Given the description of an element on the screen output the (x, y) to click on. 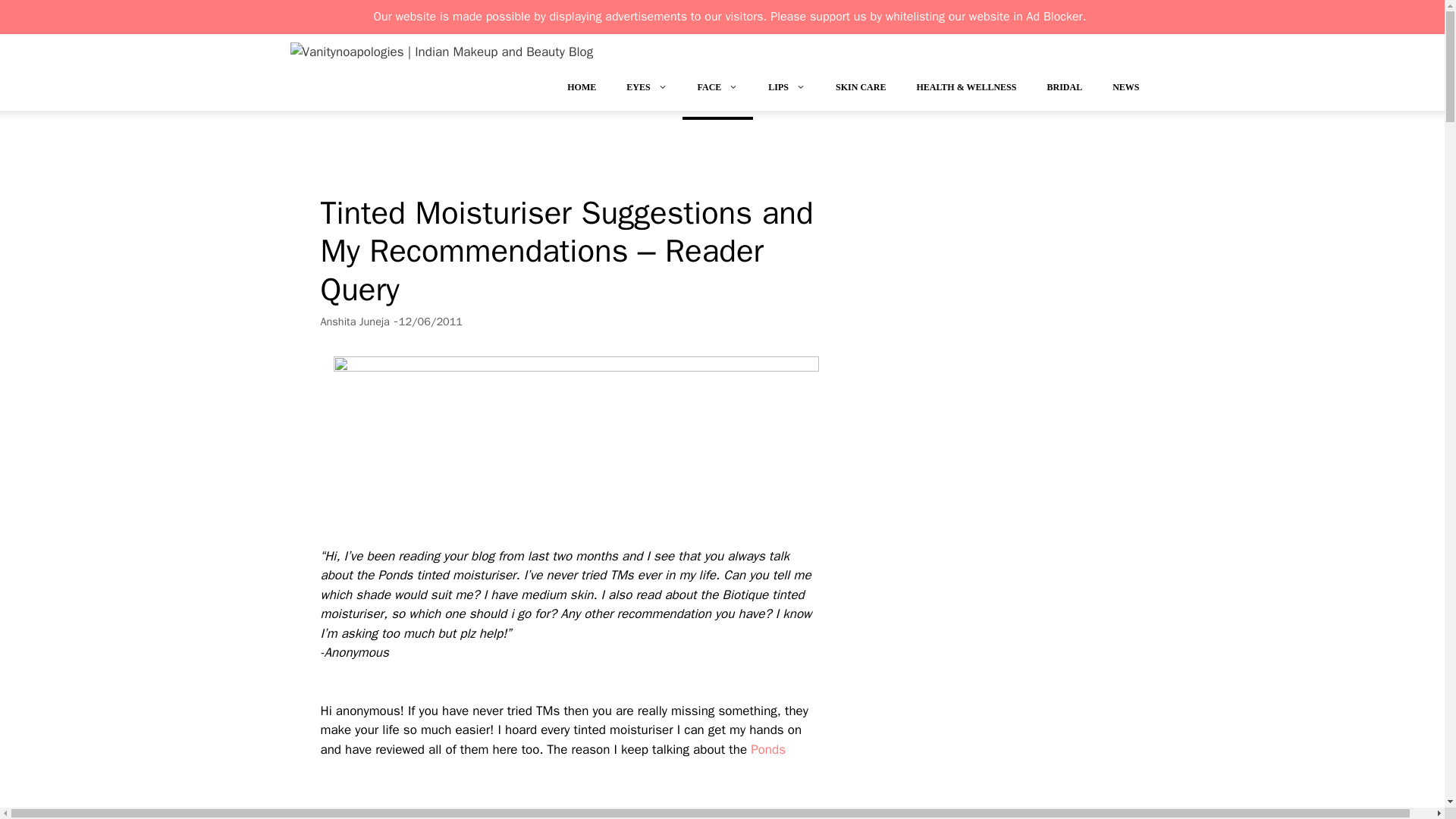
BRIDAL (1063, 90)
EYES (646, 90)
Advertisement (570, 798)
Anshita Juneja (354, 321)
FACE (718, 90)
HOME (581, 90)
View all posts by Anshita Juneja (354, 321)
LIPS (786, 90)
SKIN CARE (861, 90)
Ponds (768, 749)
